Given the description of an element on the screen output the (x, y) to click on. 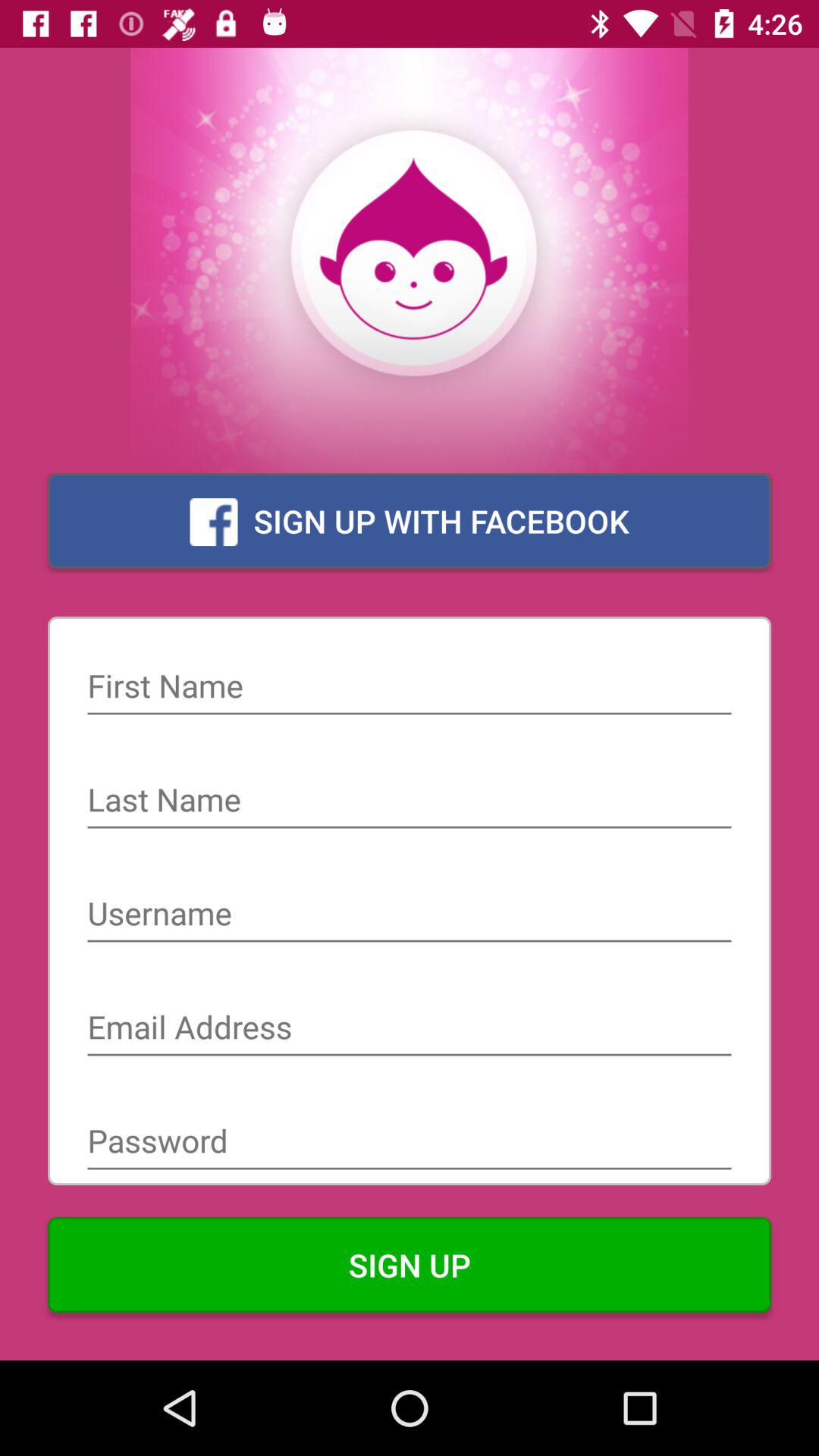
toggle autoplay (409, 801)
